Given the description of an element on the screen output the (x, y) to click on. 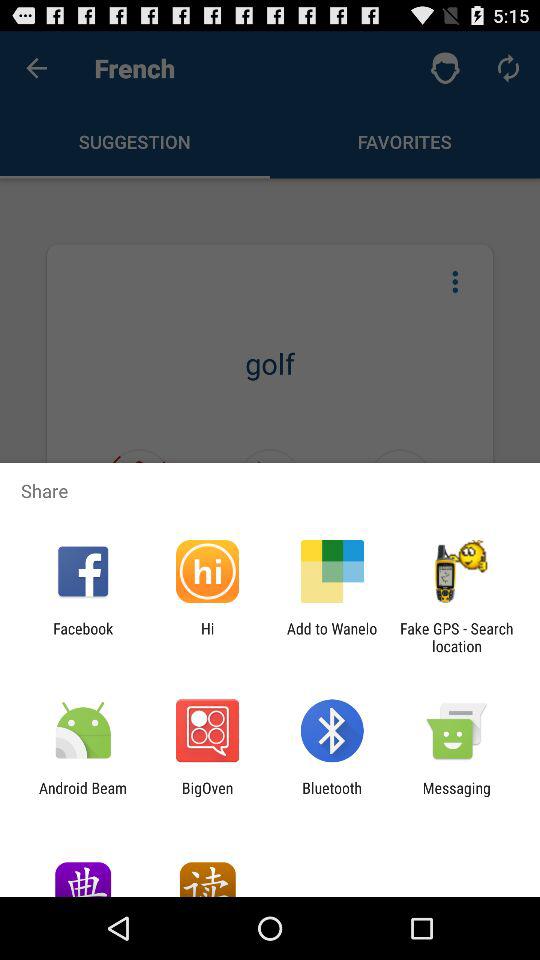
swipe to bluetooth item (331, 796)
